Given the description of an element on the screen output the (x, y) to click on. 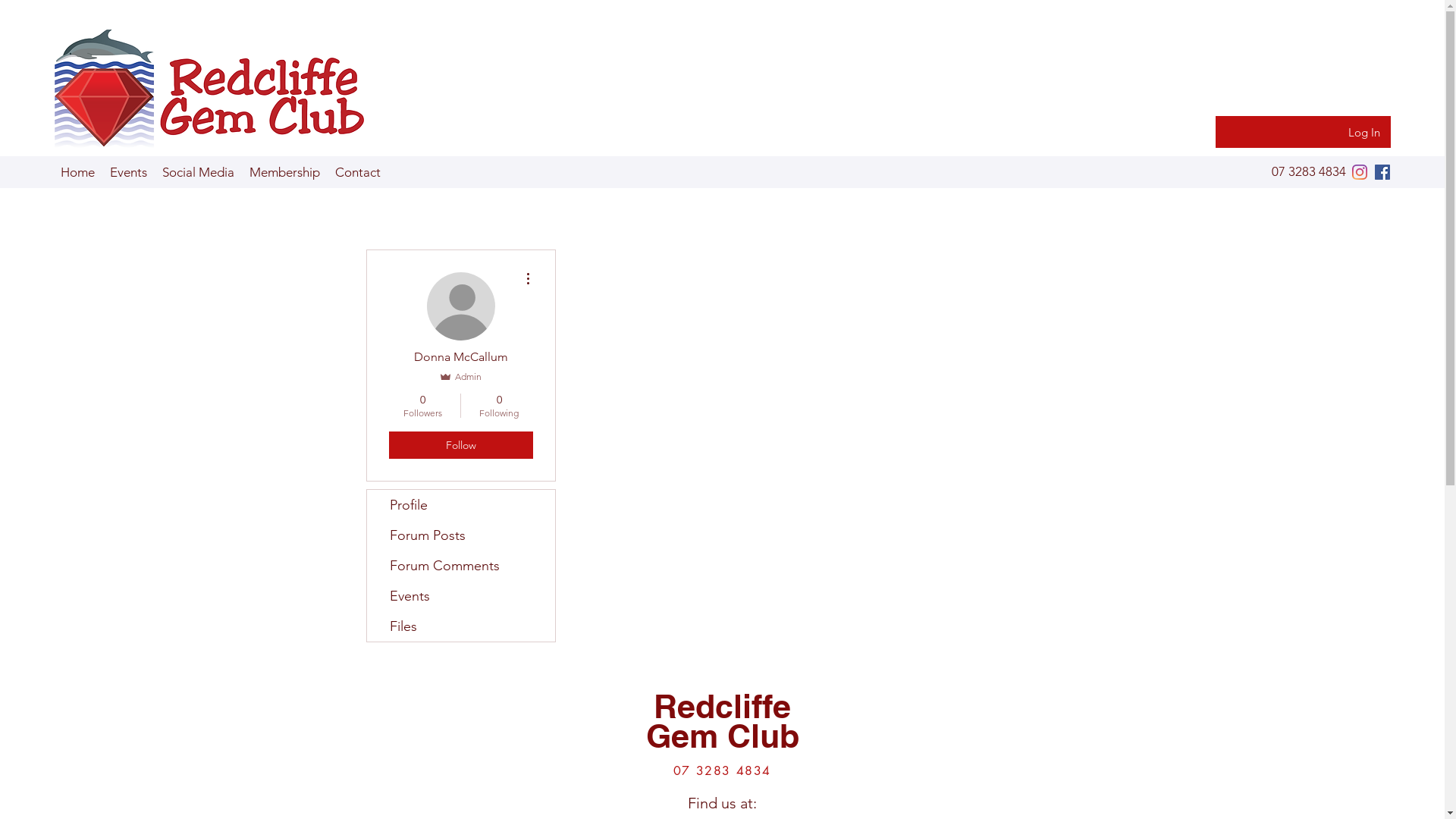
Forum Posts Element type: text (461, 535)
Follow Element type: text (460, 444)
0
Followers Element type: text (421, 405)
Events Element type: text (129, 171)
Events Element type: text (461, 595)
Home Element type: text (77, 171)
Files Element type: text (461, 626)
Social Media Element type: text (200, 171)
Forum Comments Element type: text (461, 565)
Contact Element type: text (362, 171)
Profile Element type: text (461, 504)
07 3283 4834 Element type: text (1308, 171)
Membership Element type: text (288, 171)
Log In Element type: text (1363, 131)
0
Following Element type: text (499, 405)
